Given the description of an element on the screen output the (x, y) to click on. 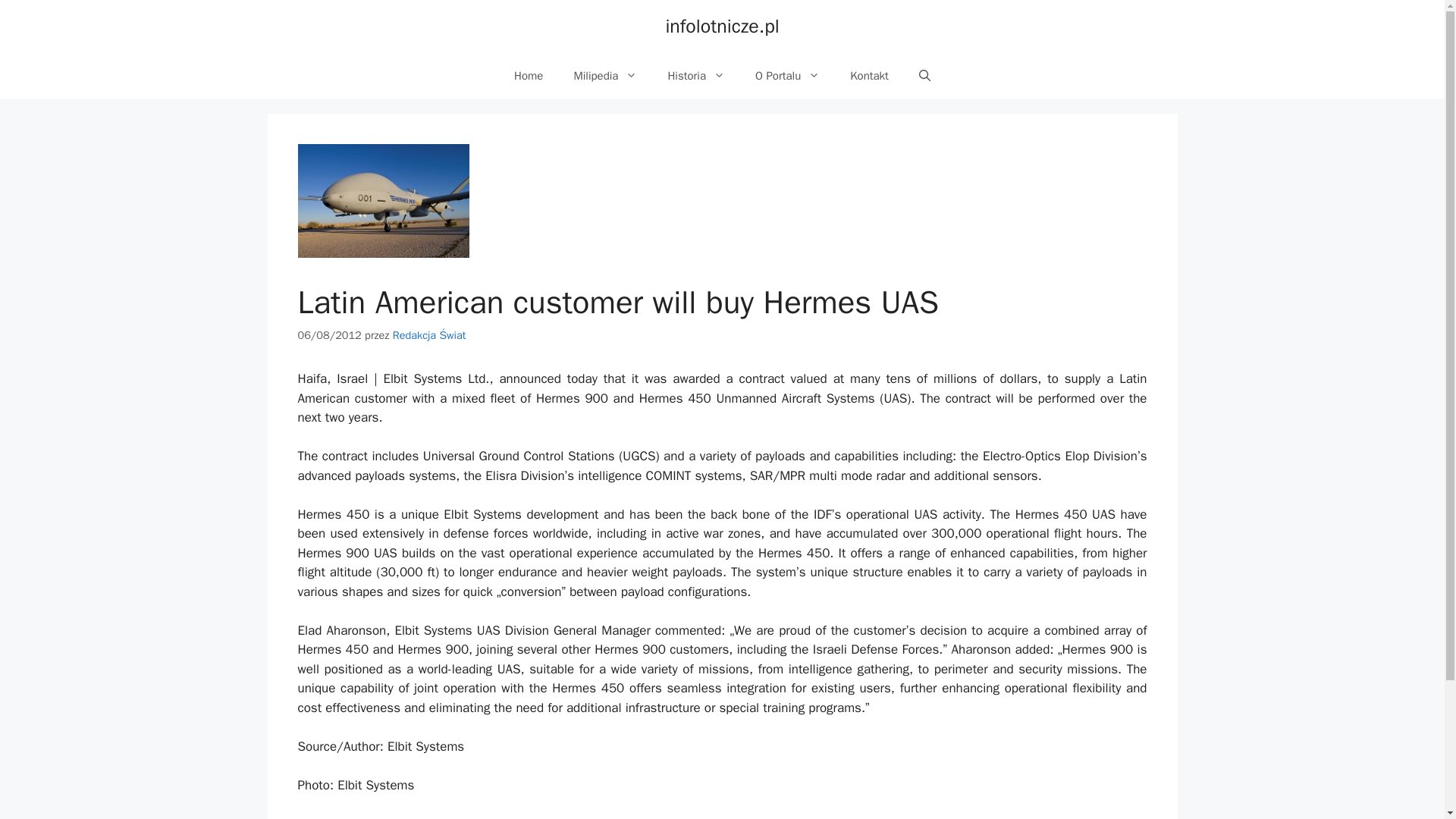
Kontakt (869, 75)
Historia (695, 75)
Milipedia (604, 75)
Home (528, 75)
infolotnicze.pl (721, 25)
O Portalu (786, 75)
